Given the description of an element on the screen output the (x, y) to click on. 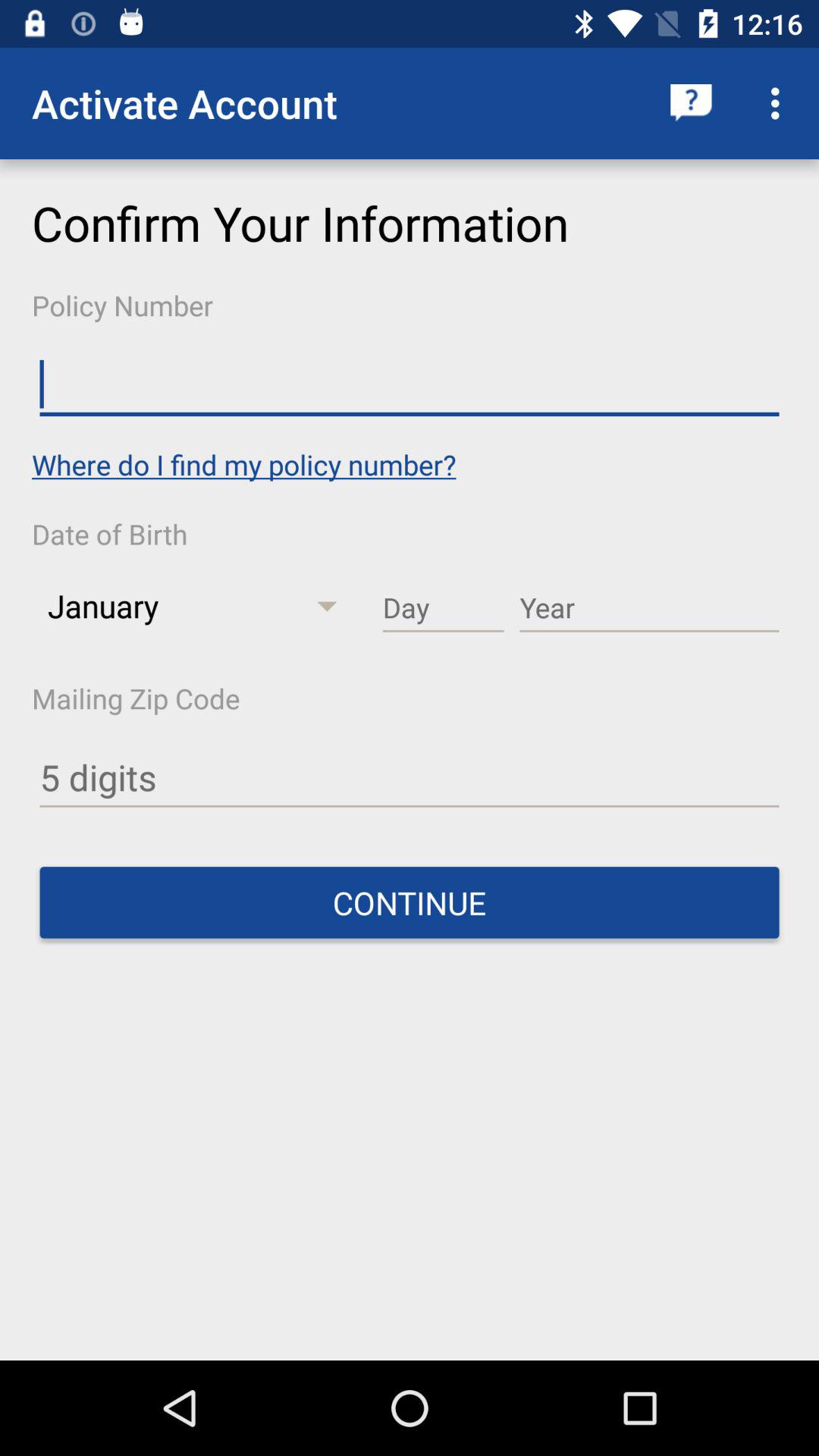
press the icon below the mailing zip code (409, 777)
